Given the description of an element on the screen output the (x, y) to click on. 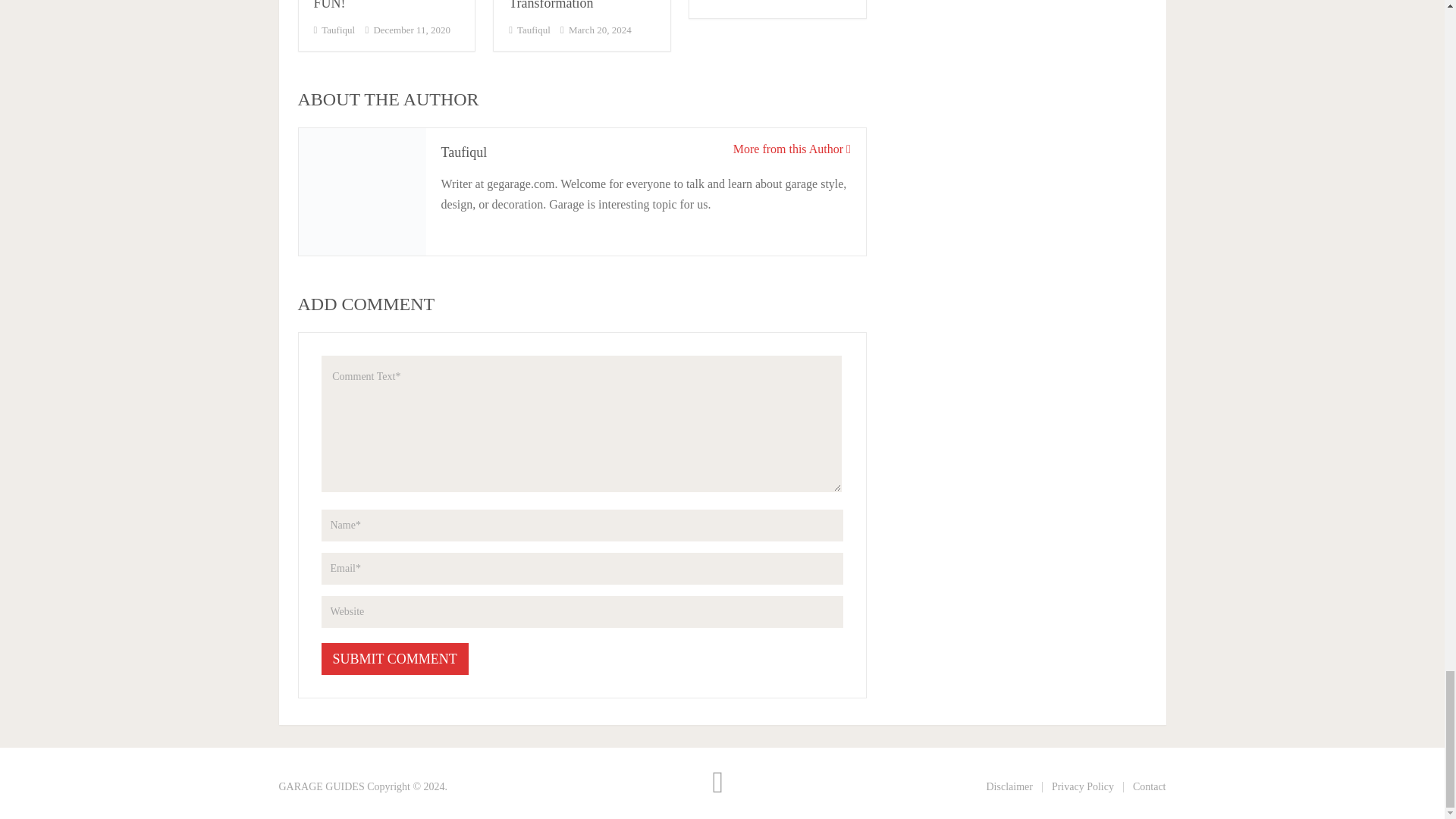
Submit Comment (394, 658)
